Given the description of an element on the screen output the (x, y) to click on. 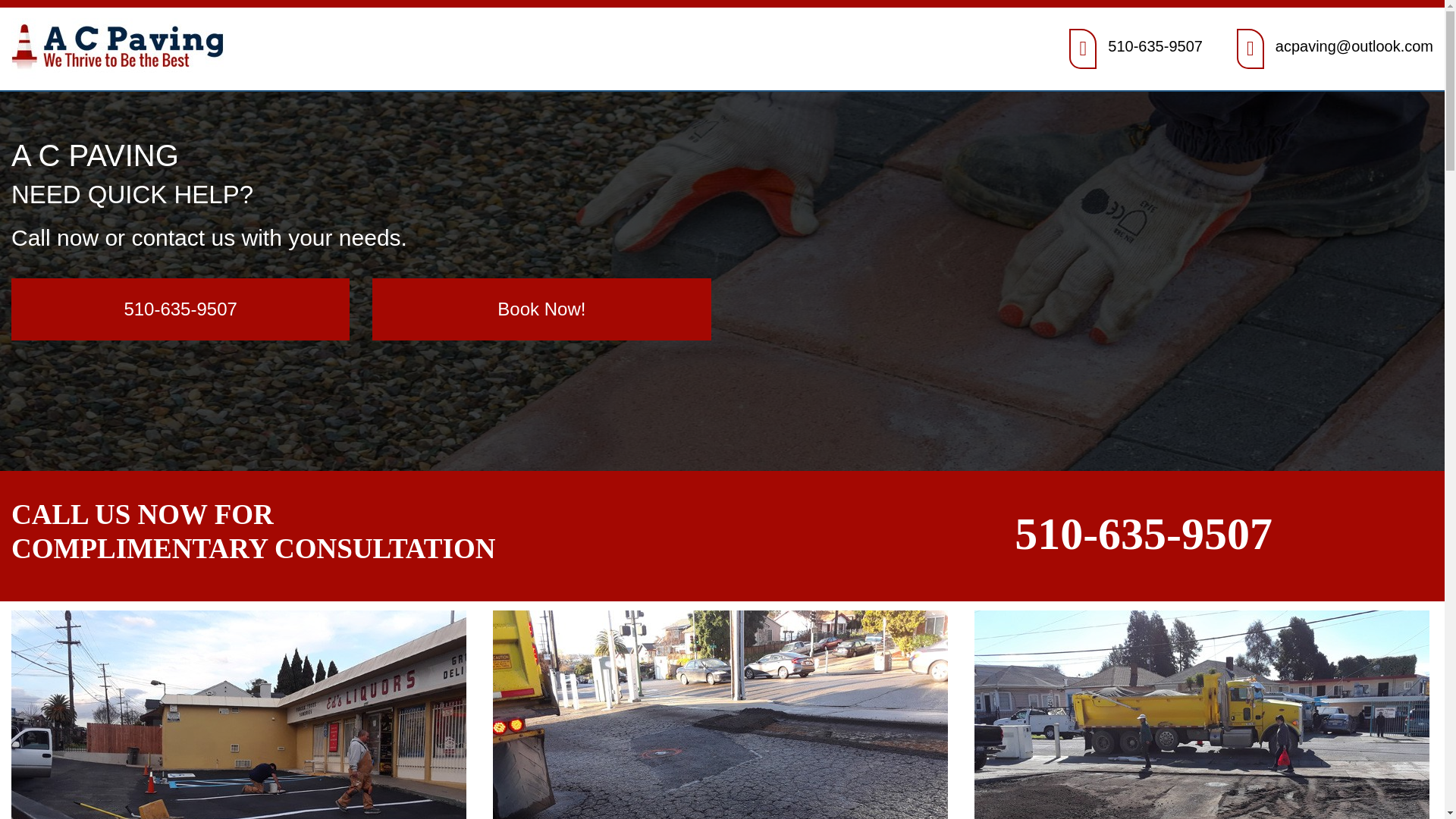
510-635-9507 (180, 309)
510-635-9507 (1142, 533)
510-635-9507 (1155, 45)
Book Now! (541, 309)
